Given the description of an element on the screen output the (x, y) to click on. 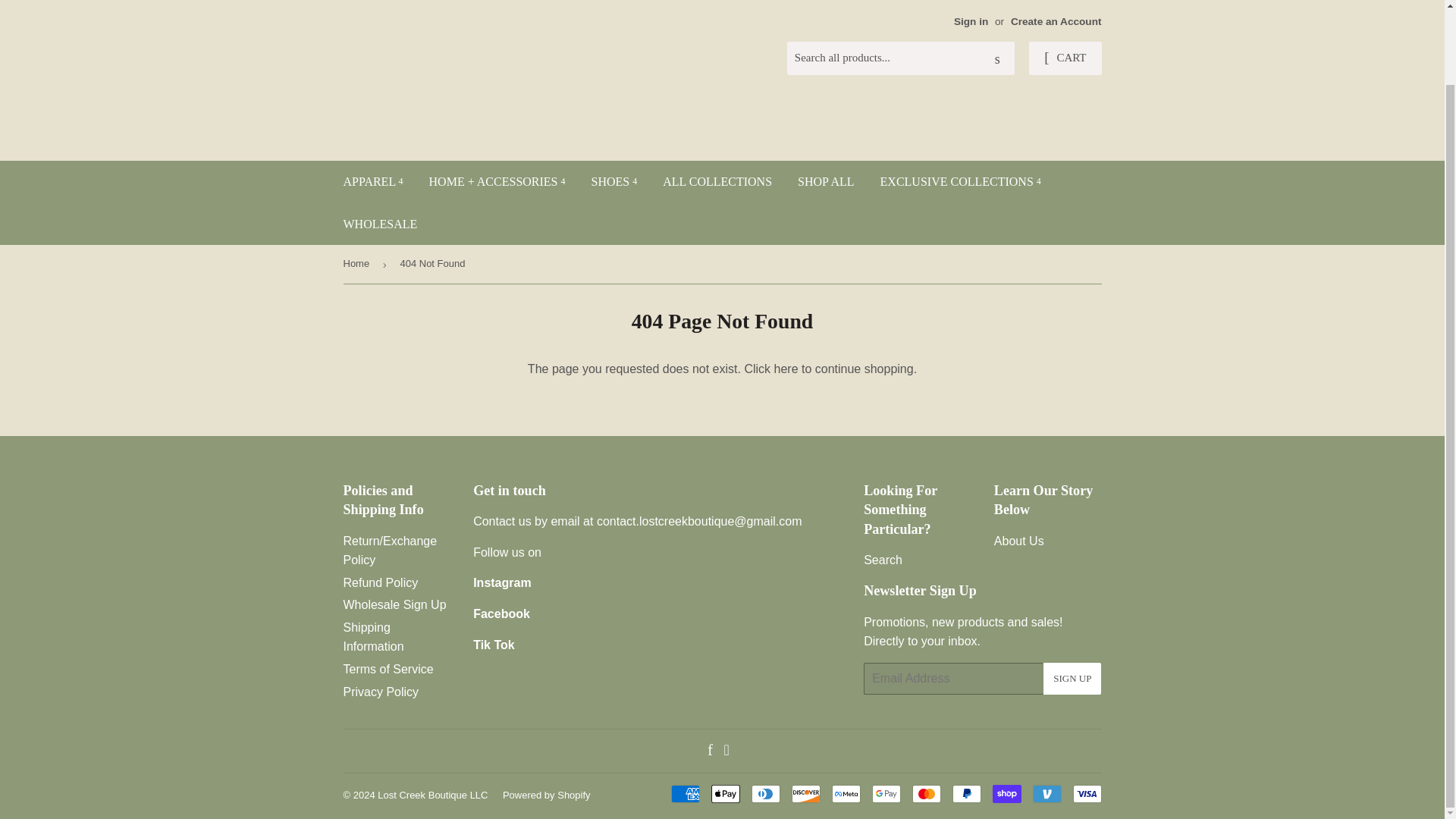
American Express (683, 793)
Create an Account (1056, 21)
Google Pay (886, 793)
Sign in (970, 21)
Apple Pay (725, 793)
Mastercard (925, 793)
Search (996, 59)
CART (1064, 58)
Diners Club (764, 793)
Venmo (1046, 793)
